Given the description of an element on the screen output the (x, y) to click on. 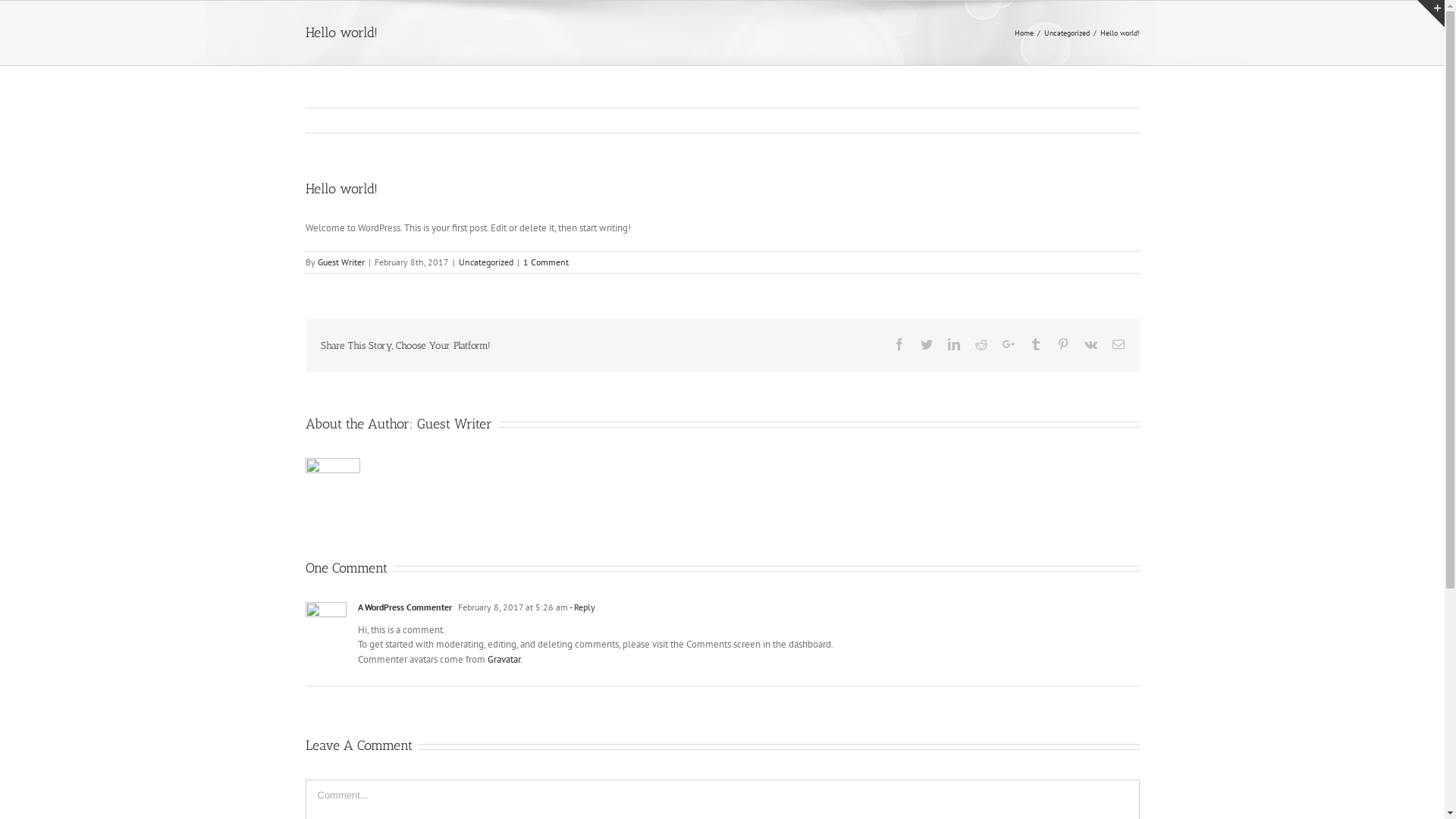
Twitter Element type: text (926, 344)
1 Comment Element type: text (545, 261)
Gravatar Element type: text (502, 658)
LinkedIn Element type: text (953, 344)
Home Element type: text (1023, 32)
Vk Element type: text (1090, 344)
Guest Writer Element type: text (340, 261)
Tumblr Element type: text (1035, 344)
Pinterest Element type: text (1063, 344)
Toggle Sliding Bar Area Element type: text (1430, 13)
Uncategorized Element type: text (485, 261)
Email Element type: text (1117, 344)
Uncategorized Element type: text (1065, 32)
Facebook Element type: text (899, 344)
- Reply Element type: text (581, 605)
Reddit Element type: text (981, 344)
Google+ Element type: text (1008, 344)
Guest Writer Element type: text (454, 423)
A WordPress Commenter Element type: text (404, 605)
